Given the description of an element on the screen output the (x, y) to click on. 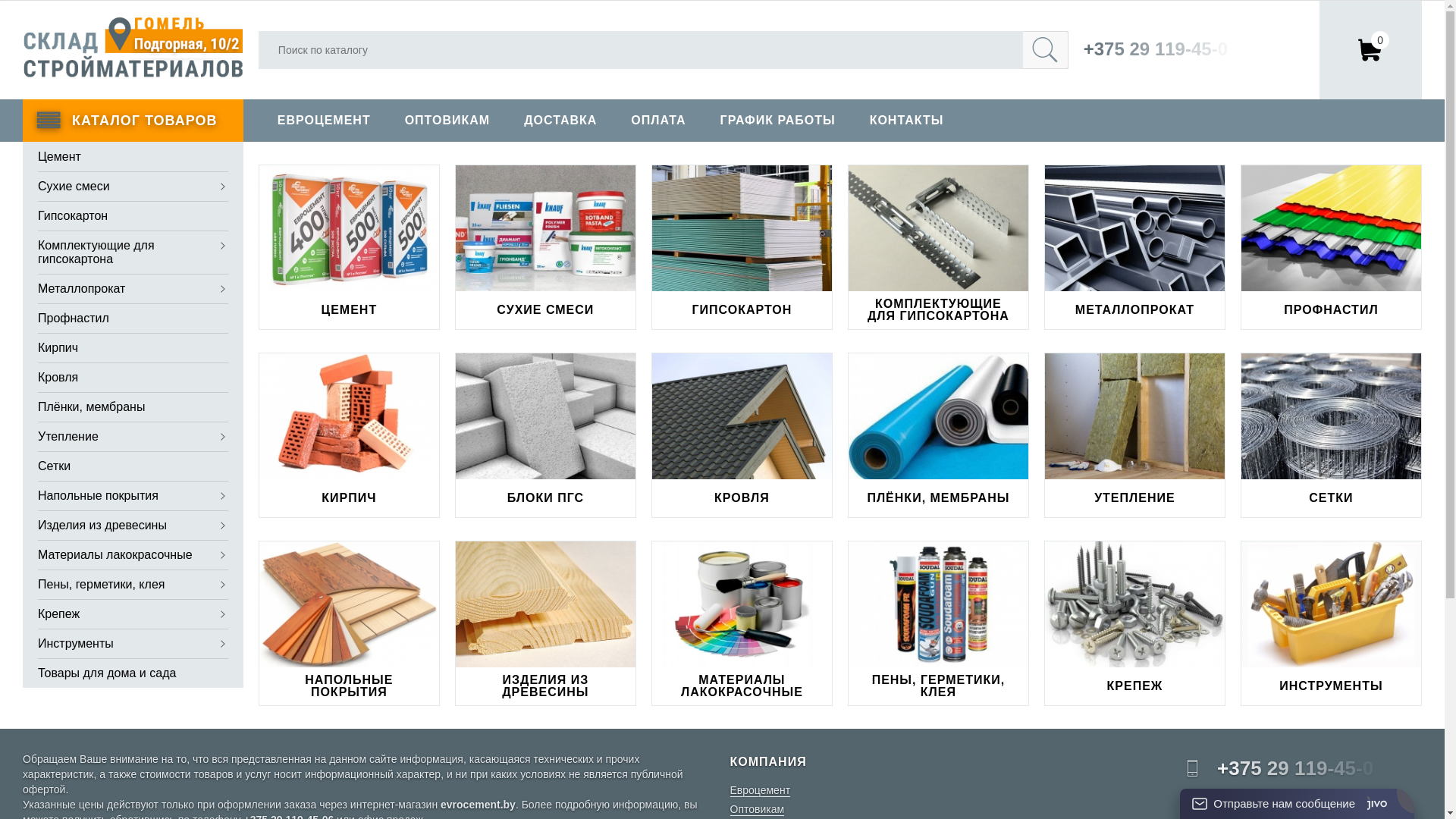
+375 29 119-45-0 Element type: text (1160, 49)
info@evrocement.by Element type: text (1272, 793)
+375 29 119-45-0 Element type: text (1319, 768)
